Given the description of an element on the screen output the (x, y) to click on. 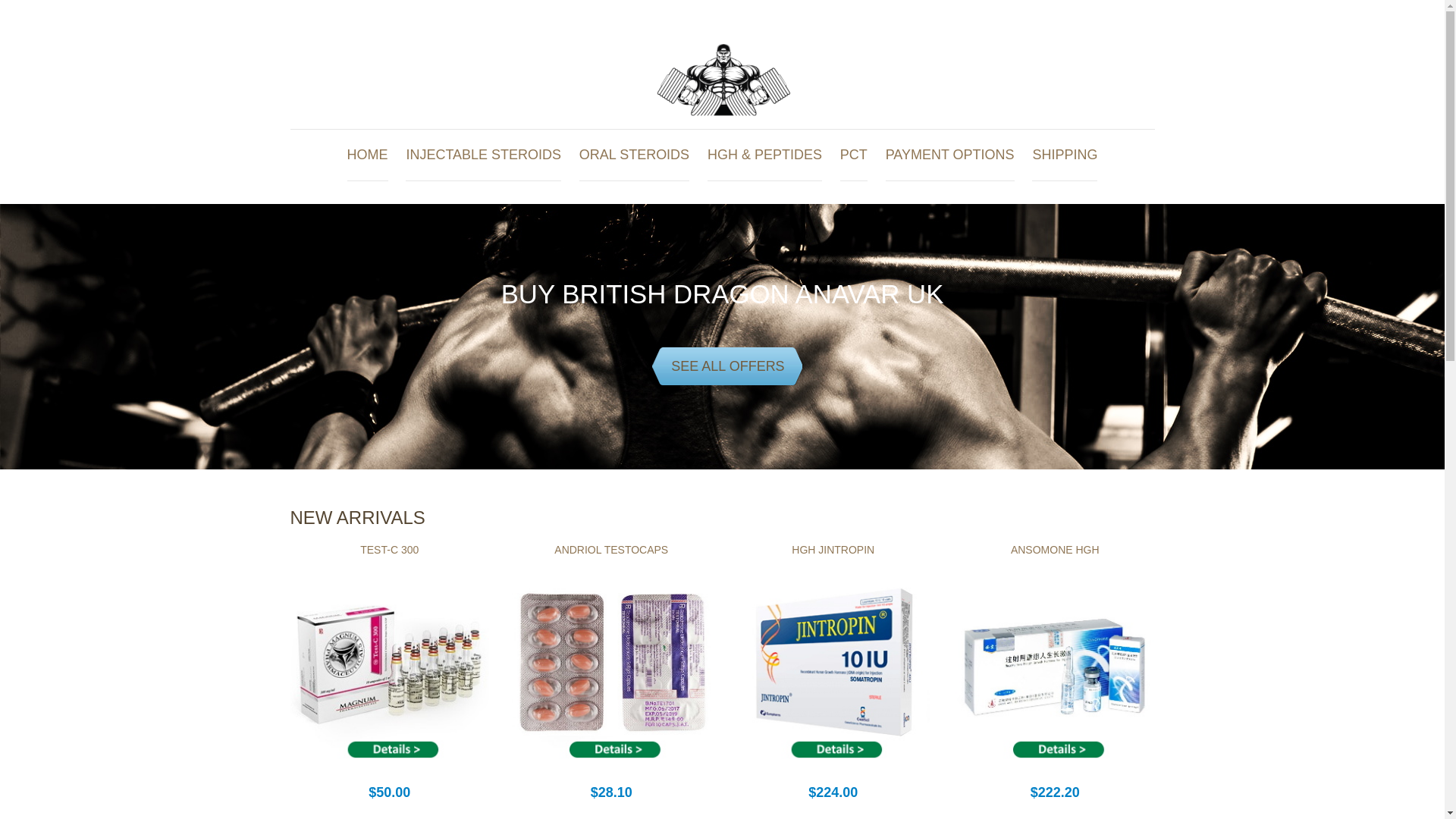
ANDRIOL TESTOCAPS (611, 549)
HOME (367, 154)
HGH JINTROPIN (833, 549)
PAYMENT OPTIONS (949, 154)
SEE ALL OFFERS (722, 365)
ANSOMONE HGH (1054, 549)
TEST-C 300 (389, 549)
INJECTABLE STEROIDS (483, 154)
PCT (853, 154)
ORAL STEROIDS (633, 154)
SHIPPING (1064, 154)
